Given the description of an element on the screen output the (x, y) to click on. 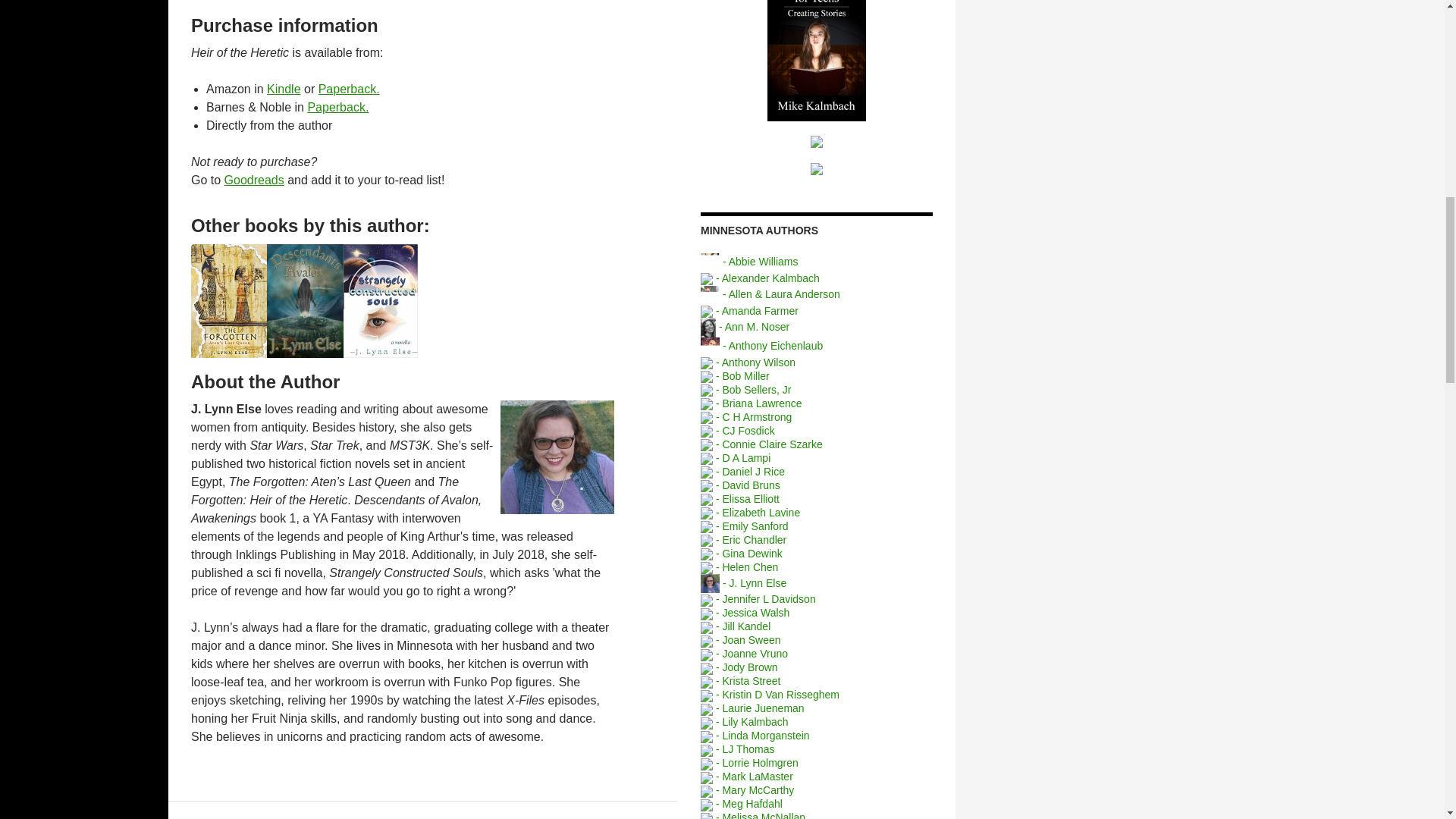
- Abbie Williams (748, 261)
Paperback. (349, 88)
Kindle (282, 88)
Paperback. (337, 106)
Goodreads (253, 179)
